Given the description of an element on the screen output the (x, y) to click on. 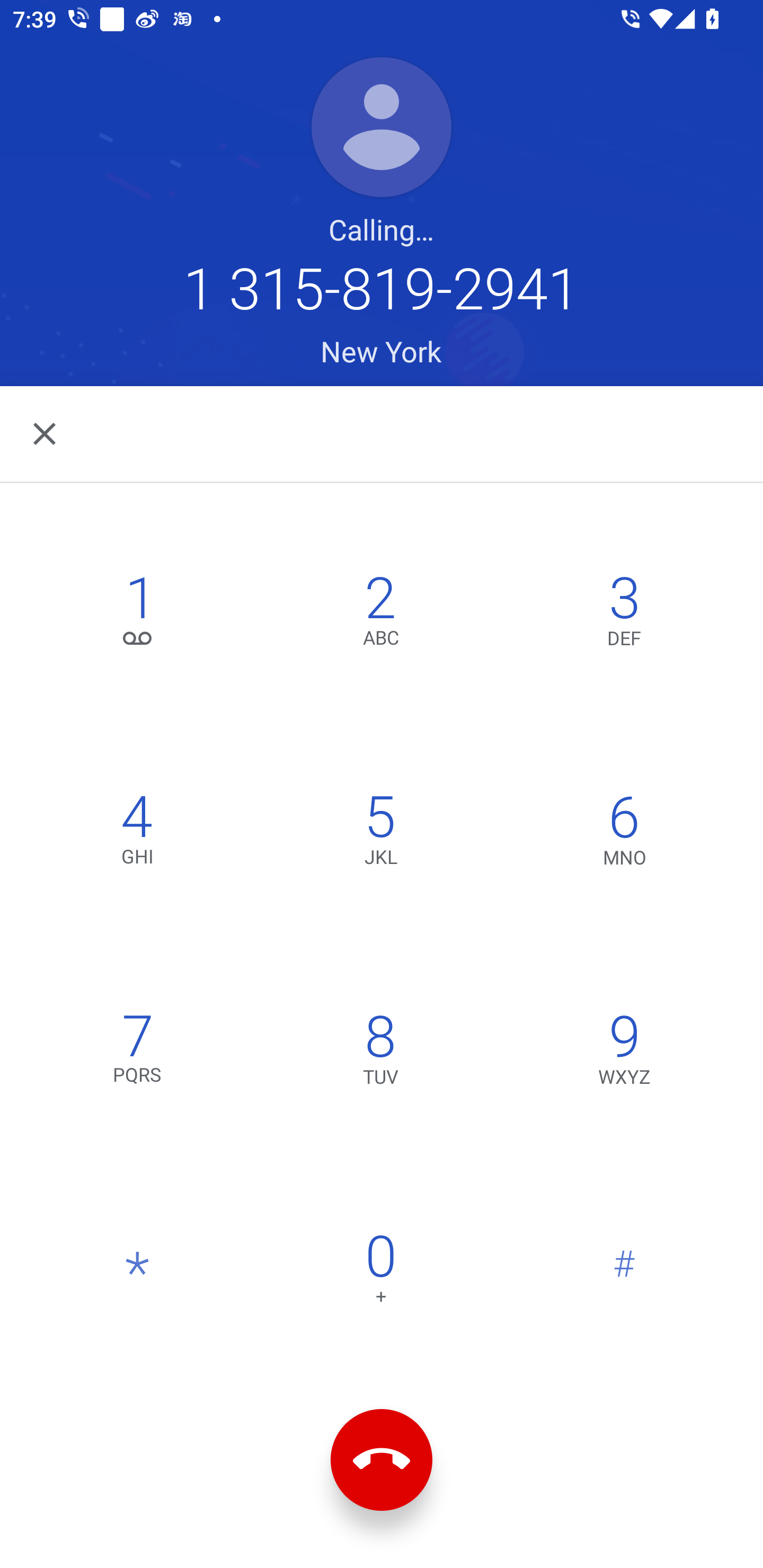
Navigate back (45, 433)
1, 1 (137, 614)
2,ABC 2 ABC (380, 614)
3,DEF 3 DEF (624, 614)
4,GHI 4 GHI (137, 833)
5,JKL 5 JKL (380, 833)
6,MNO 6 MNO (624, 833)
7,PQRS 7 PQRS (137, 1053)
8,TUV 8 TUV (380, 1053)
9,WXYZ 9 WXYZ (624, 1053)
* (137, 1272)
0 0 + (380, 1272)
# (624, 1272)
End call (381, 1460)
